Given the description of an element on the screen output the (x, y) to click on. 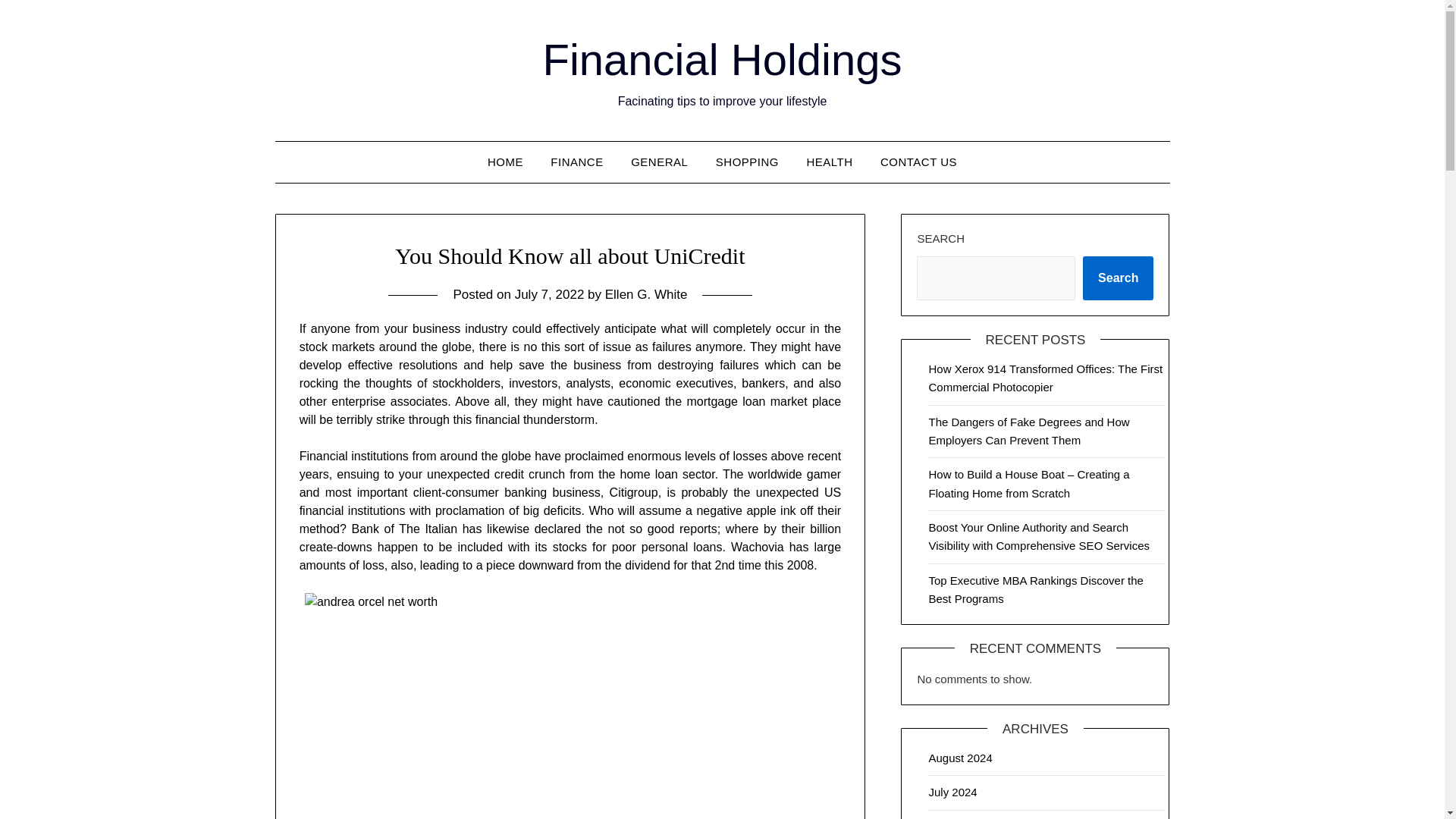
CONTACT US (918, 161)
Search (1118, 278)
FINANCE (576, 161)
July 2024 (952, 791)
Top Executive MBA Rankings Discover the Best Programs (1035, 589)
August 2024 (959, 757)
SHOPPING (746, 161)
HOME (505, 161)
